Given the description of an element on the screen output the (x, y) to click on. 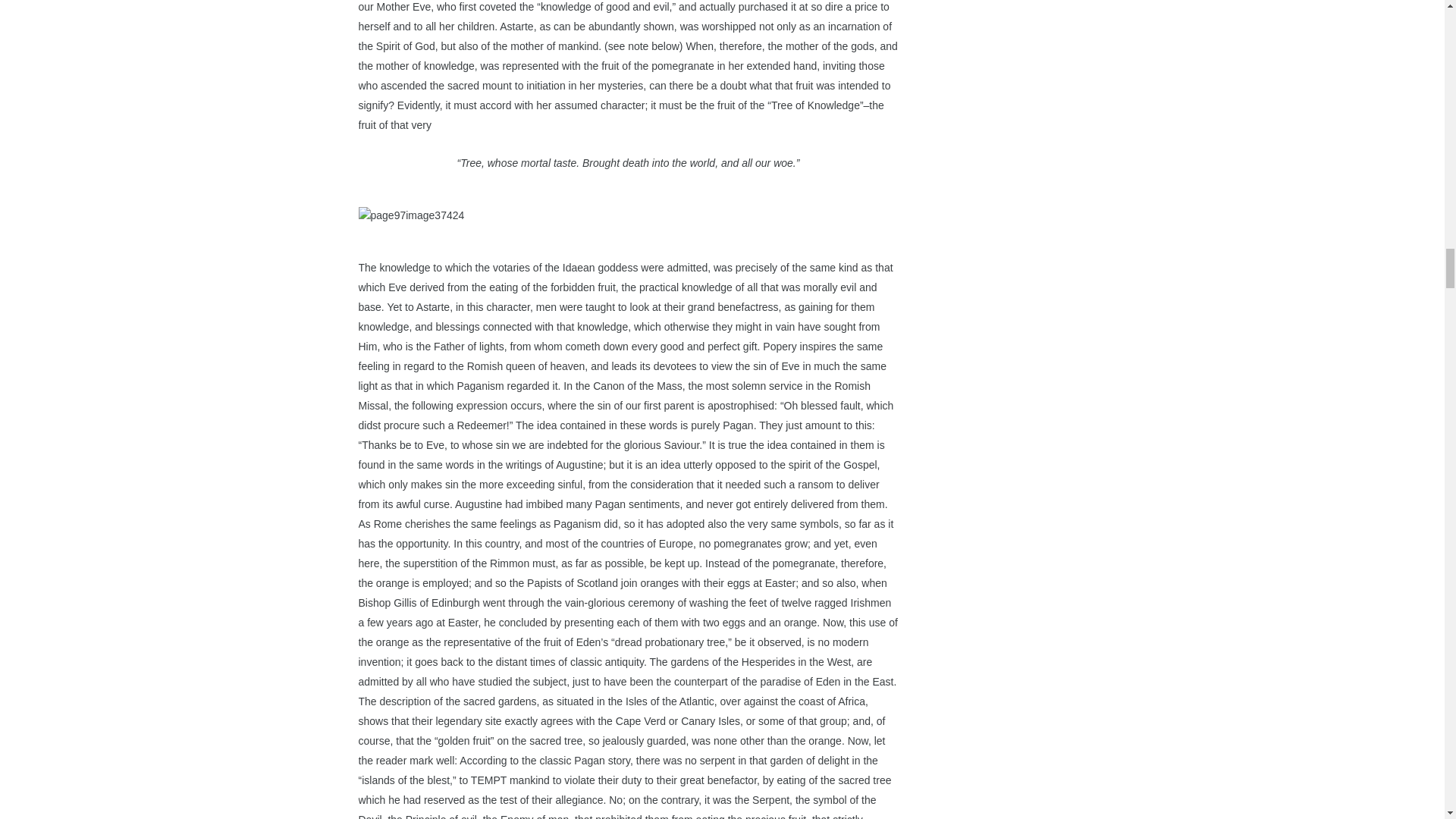
Page 97 (628, 120)
